Given the description of an element on the screen output the (x, y) to click on. 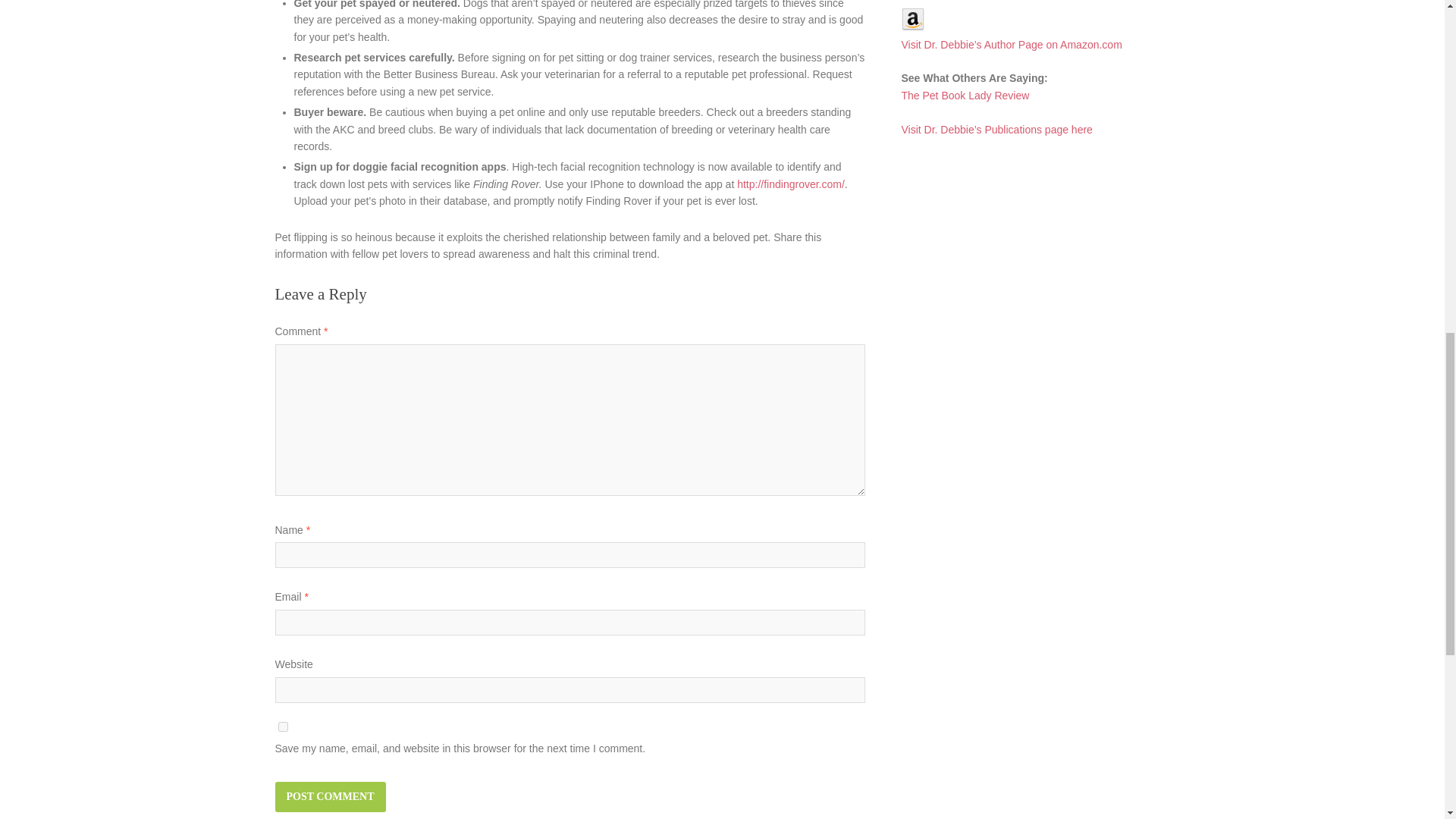
The Pet Book Lady Review (965, 95)
Post Comment (330, 797)
yes (282, 726)
Post Comment (330, 797)
